Given the description of an element on the screen output the (x, y) to click on. 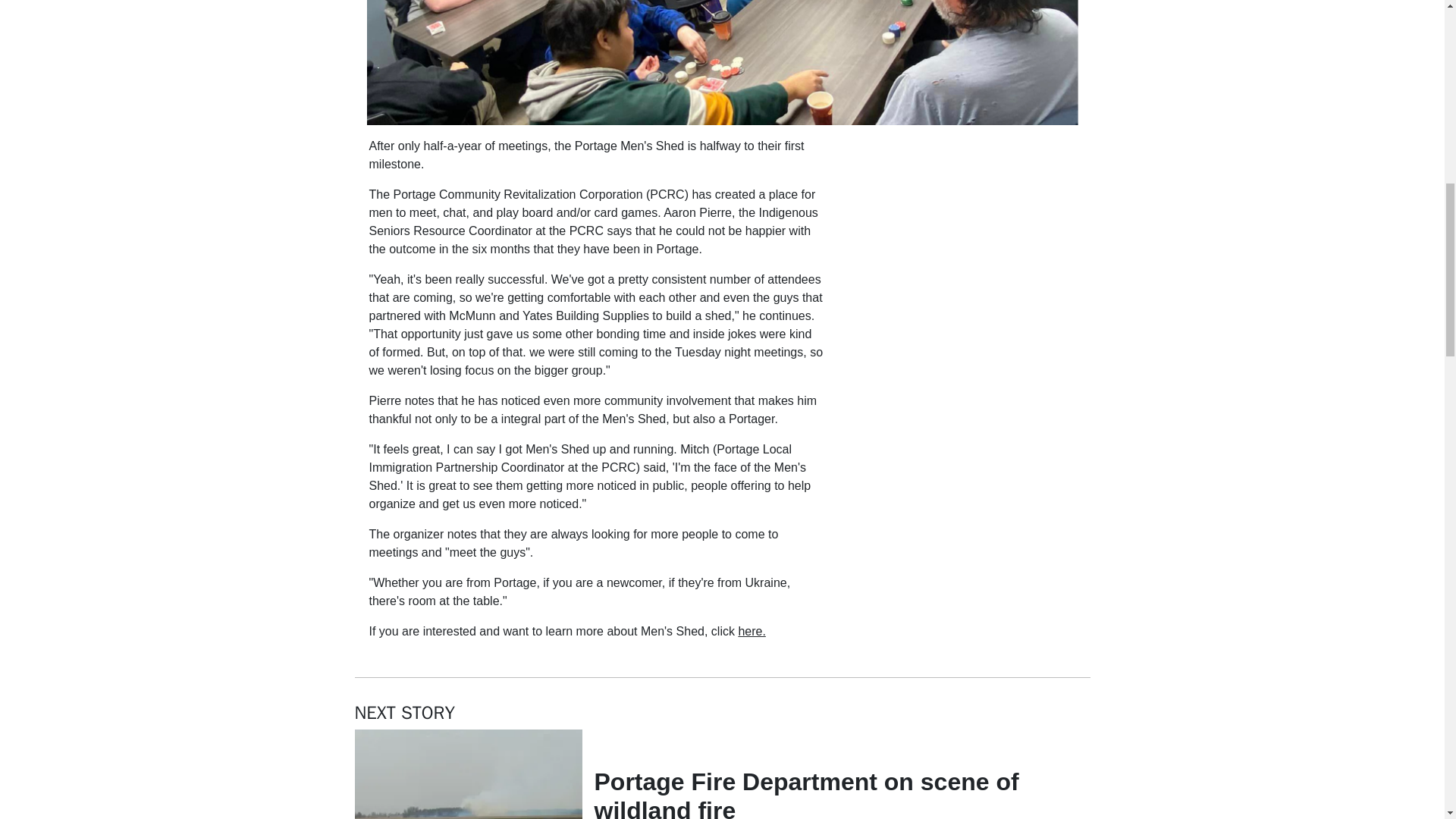
3rd party ad content (961, 231)
3rd party ad content (961, 557)
